Given the description of an element on the screen output the (x, y) to click on. 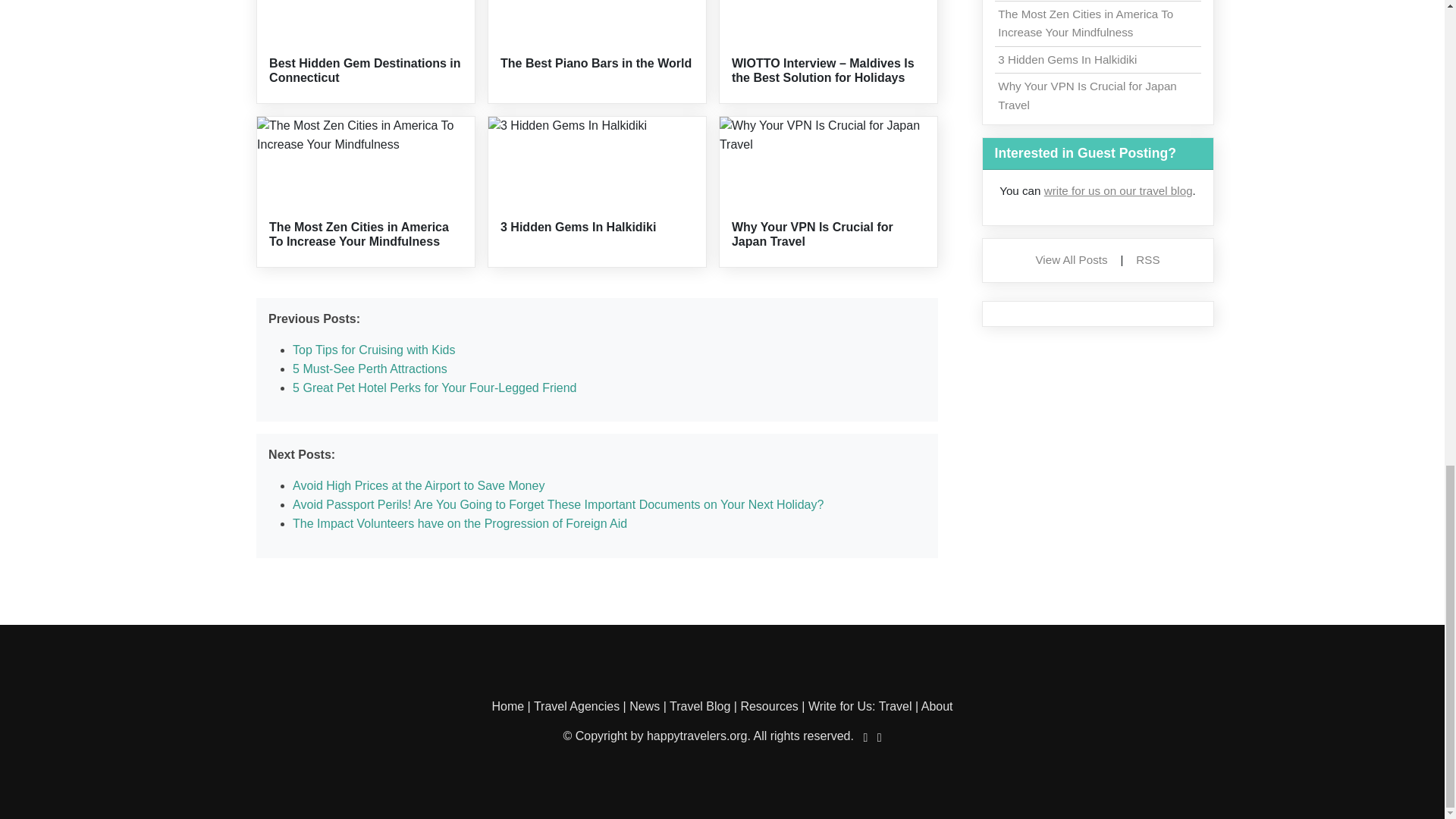
Why Your VPN Is Crucial for Japan Travel (812, 234)
5 Great Pet Hotel Perks for Your Four-Legged Friend (434, 387)
The Most Zen Cities in America To Increase Your Mindfulness (358, 234)
Top Tips for Cruising with Kids (373, 349)
Avoid High Prices at the Airport to Save Money (418, 485)
5 Must-See Perth Attractions (369, 368)
Best Hidden Gem Destinations in Connecticut (364, 70)
The Best Piano Bars in the World (595, 62)
The Impact Volunteers have on the Progression of Foreign Aid (459, 522)
